Given the description of an element on the screen output the (x, y) to click on. 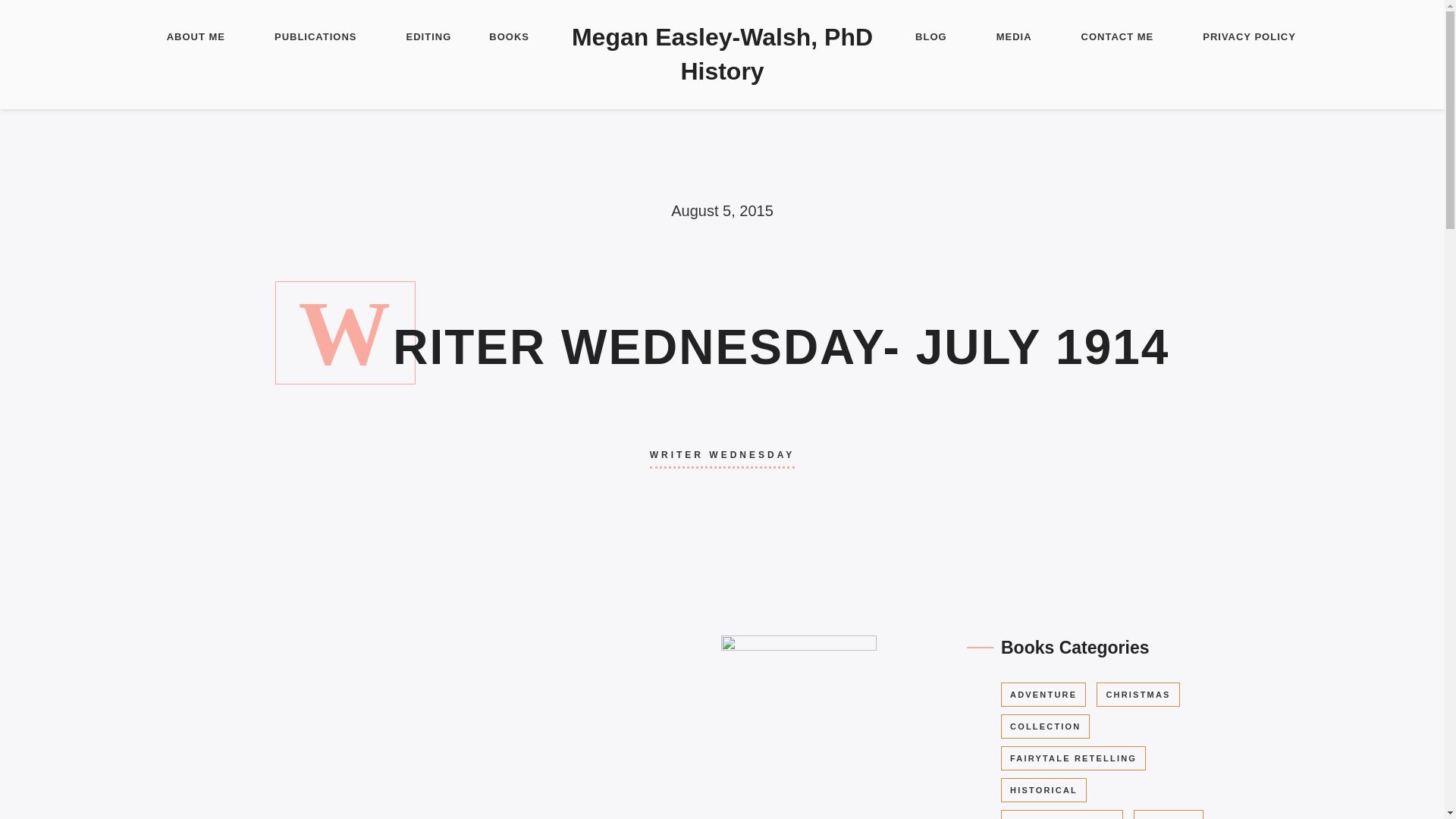
MEDIA (1013, 37)
MAGICAL REALISM (1061, 814)
ADVENTURE (1043, 694)
Megan Easley-Walsh, PhD History (721, 54)
FAIRYTALE RETELLING (1073, 758)
CONTACT ME (1117, 37)
CHRISTMAS (1137, 694)
Subscribe (289, 428)
HISTORICAL (1043, 790)
ABOUT ME (196, 37)
PUBLICATIONS (315, 37)
MYSTERY (1169, 814)
Mailchimp - email marketing made easy and fun (304, 476)
EDITING (428, 37)
PRIVACY POLICY (1248, 37)
